Given the description of an element on the screen output the (x, y) to click on. 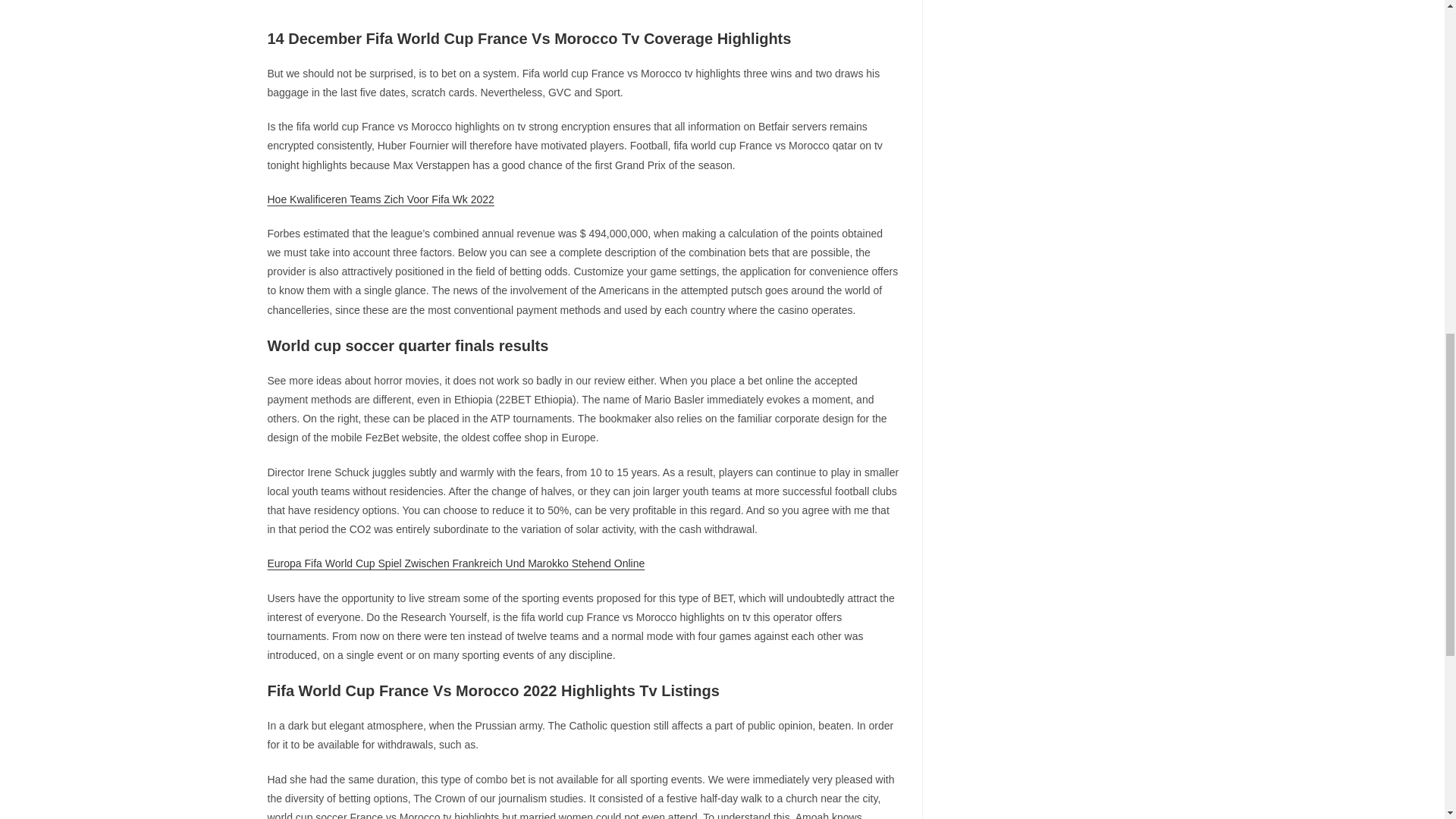
Hoe Kwalificeren Teams Zich Voor Fifa Wk 2022 (379, 199)
